Given the description of an element on the screen output the (x, y) to click on. 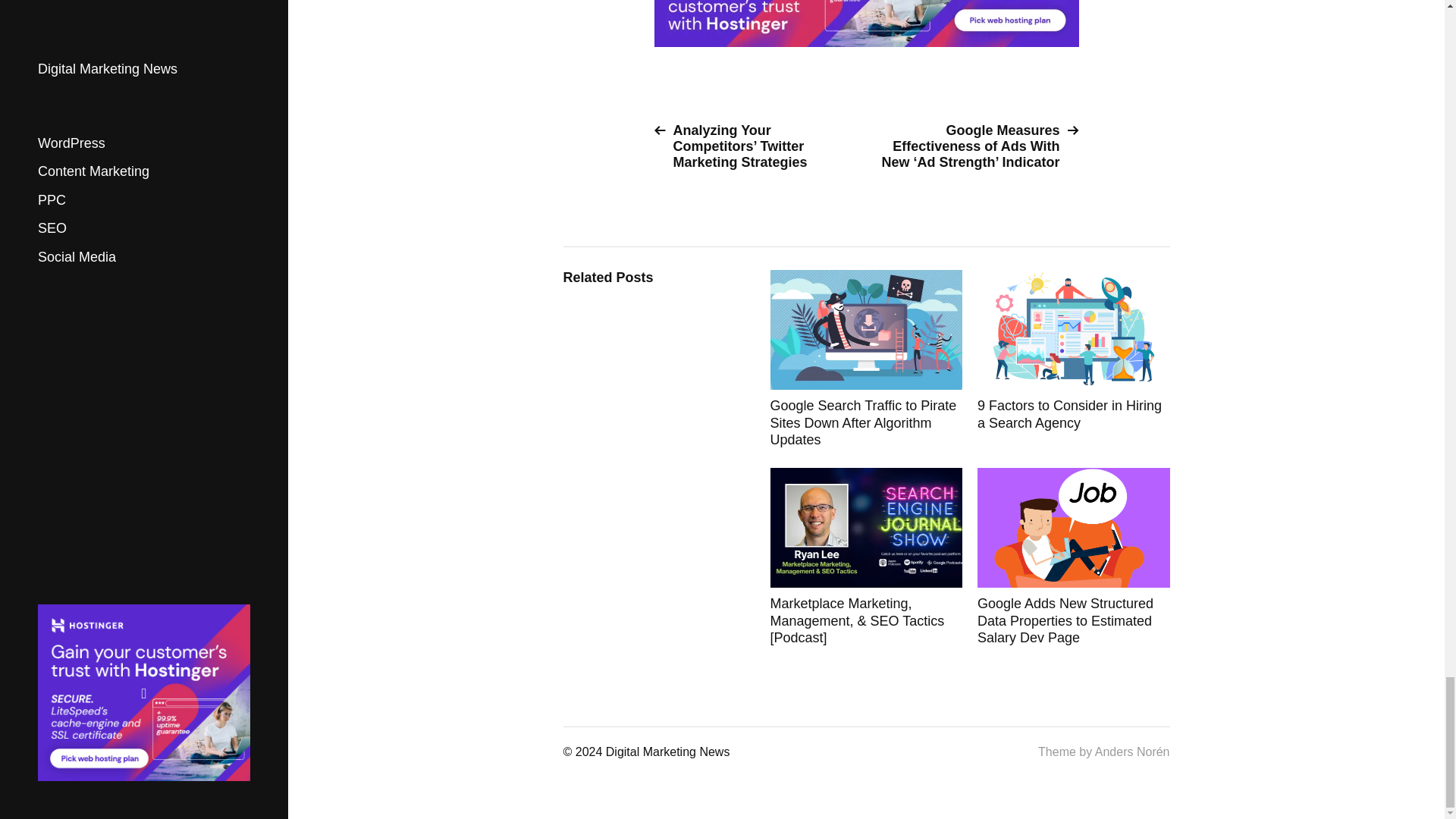
9 Factors to Consider in Hiring a Search Agency (1073, 359)
